Given the description of an element on the screen output the (x, y) to click on. 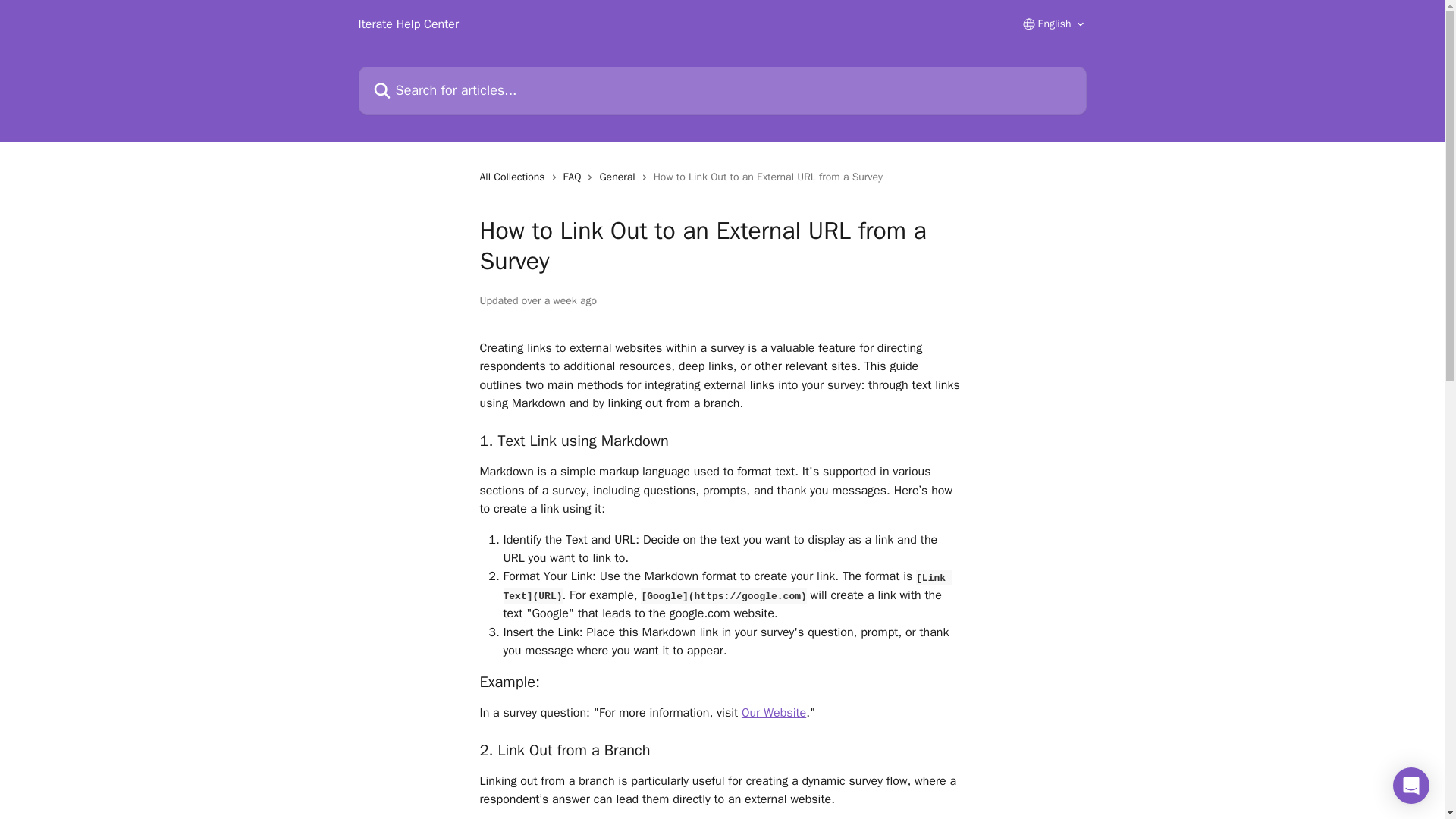
General (619, 176)
All Collections (514, 176)
Our Website (773, 712)
FAQ (575, 176)
